Given the description of an element on the screen output the (x, y) to click on. 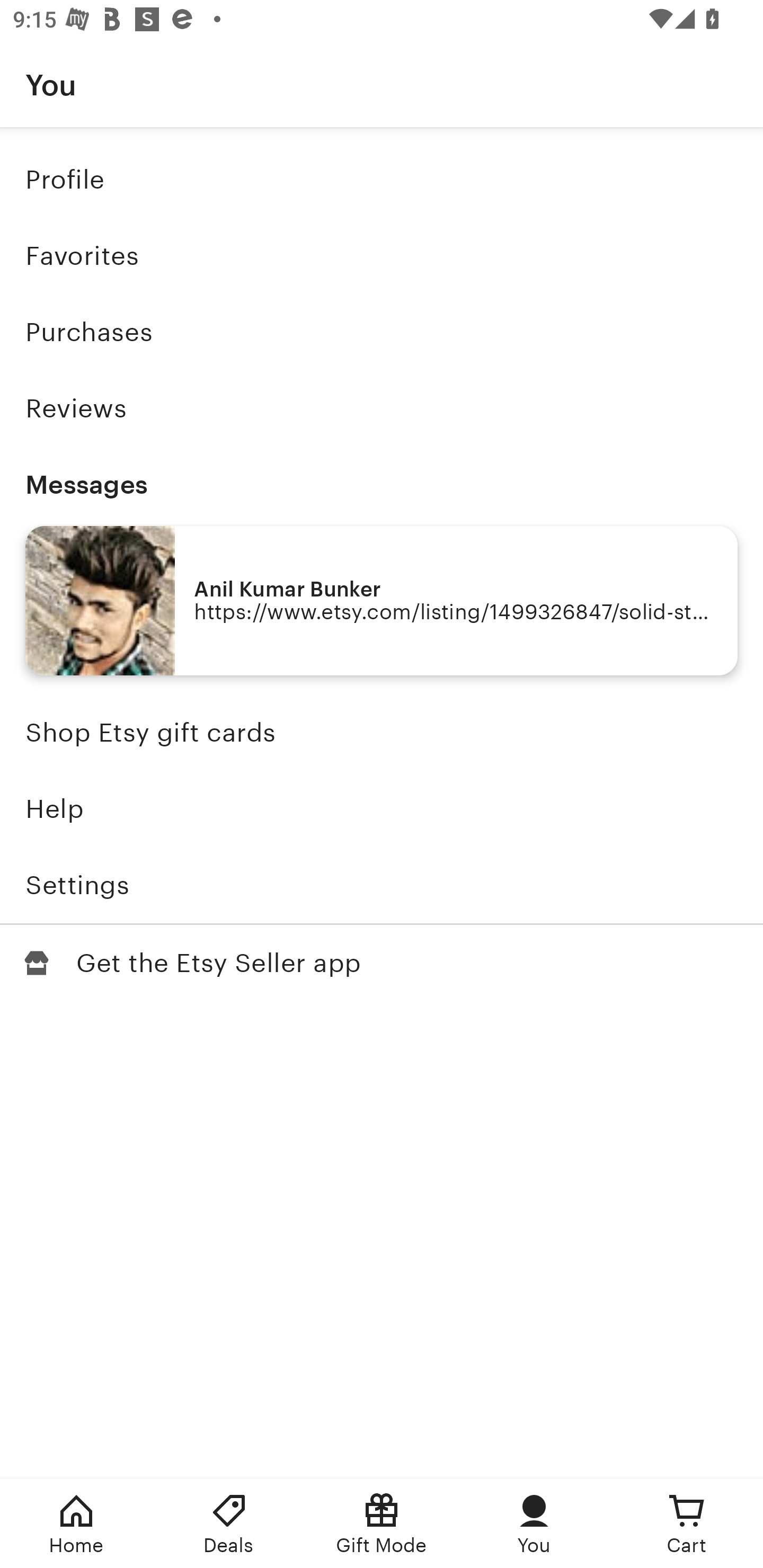
Profile (381, 179)
Favorites (381, 255)
Purchases (381, 332)
Reviews (381, 408)
Messages (381, 484)
Shop Etsy gift cards (381, 732)
Help (381, 808)
Settings (381, 884)
Get the Etsy Seller app (381, 963)
Home (76, 1523)
Deals (228, 1523)
Gift Mode (381, 1523)
Cart (686, 1523)
